Given the description of an element on the screen output the (x, y) to click on. 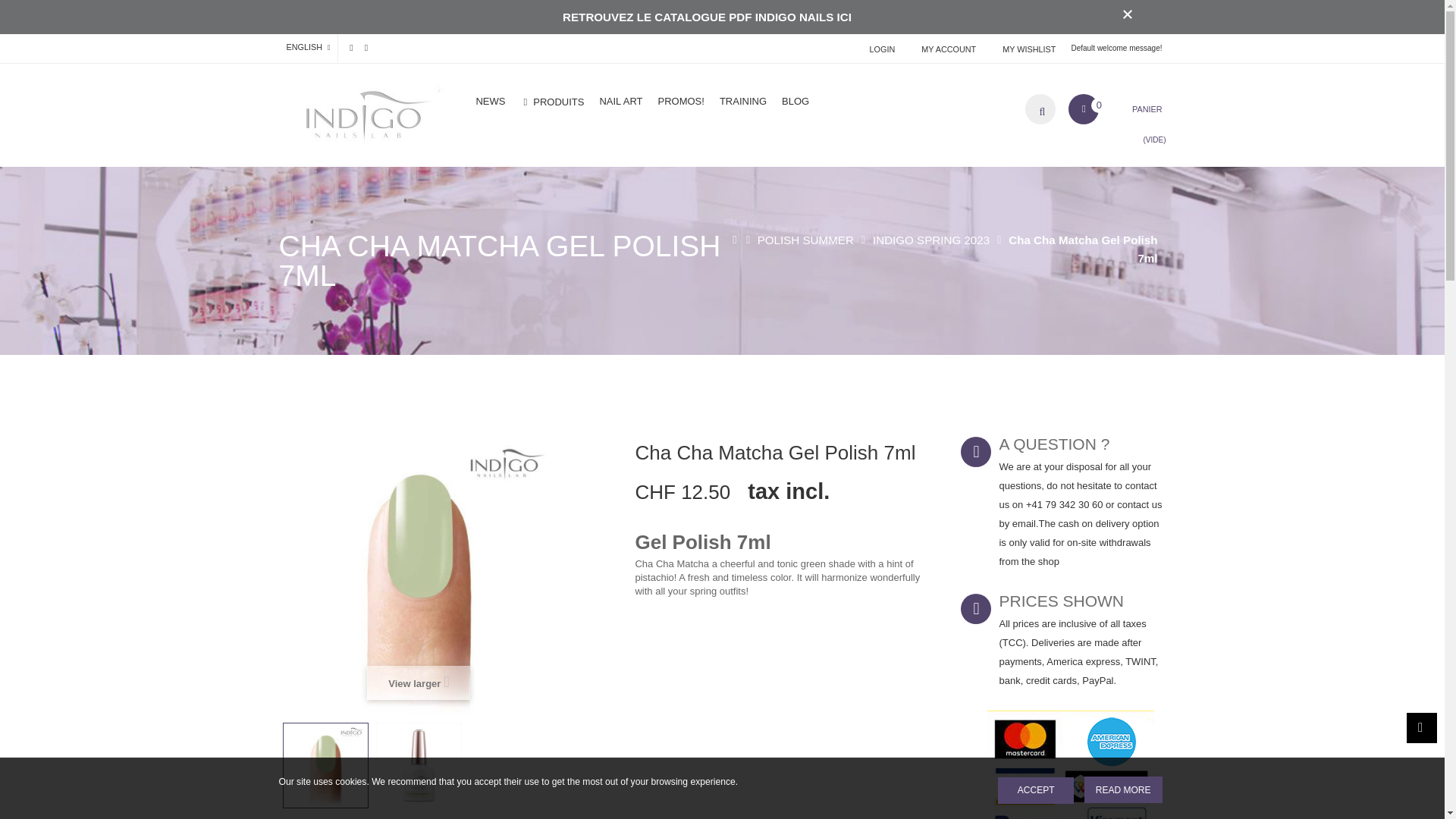
login (880, 49)
Indigo Nails Suisse  (362, 117)
Catalogue Indigo Nails (706, 16)
Close (1128, 14)
my-account (946, 49)
my-wishlist (1026, 49)
